Given the description of an element on the screen output the (x, y) to click on. 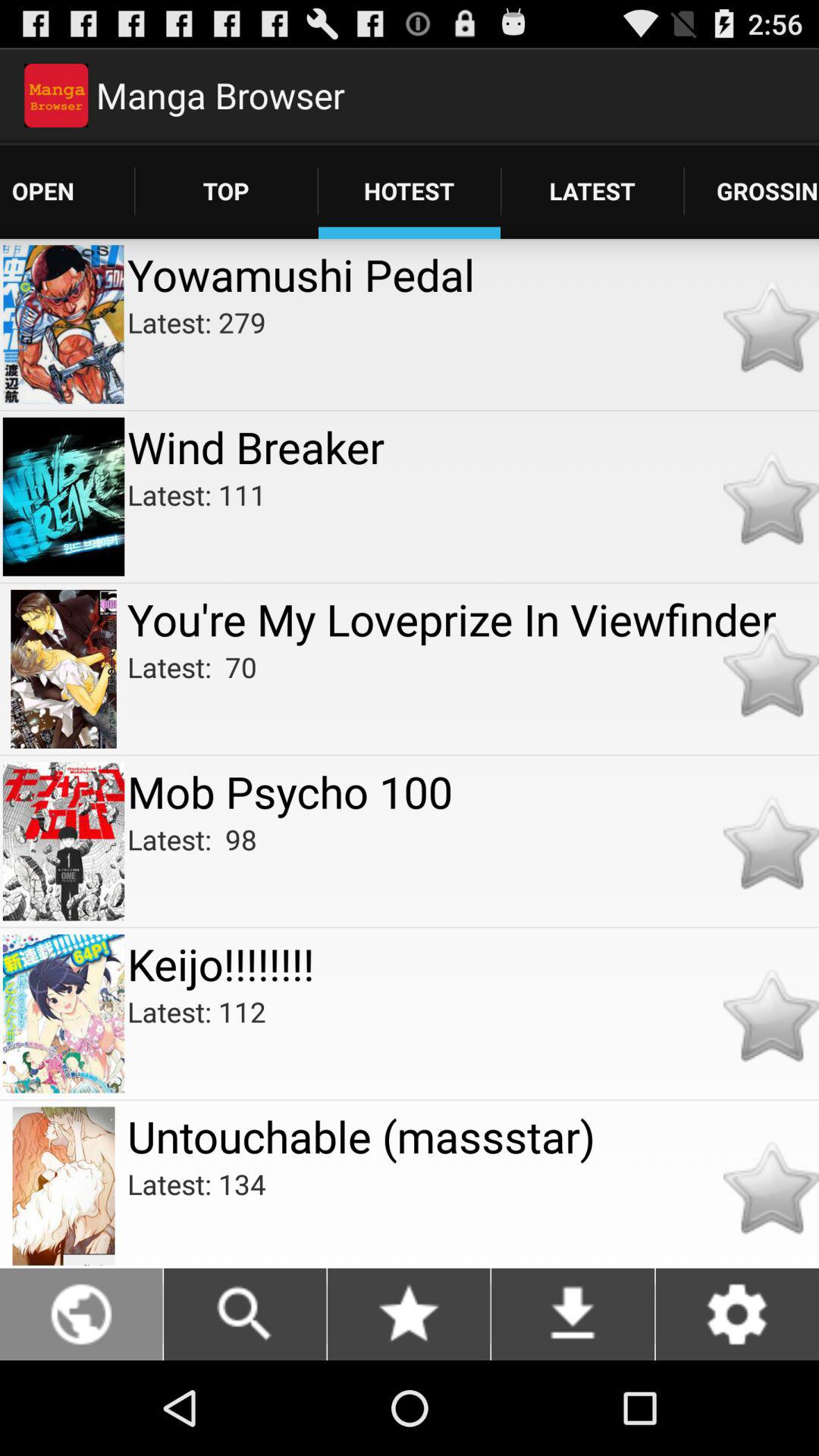
scroll until the keijo!!!!!!!! icon (473, 963)
